Given the description of an element on the screen output the (x, y) to click on. 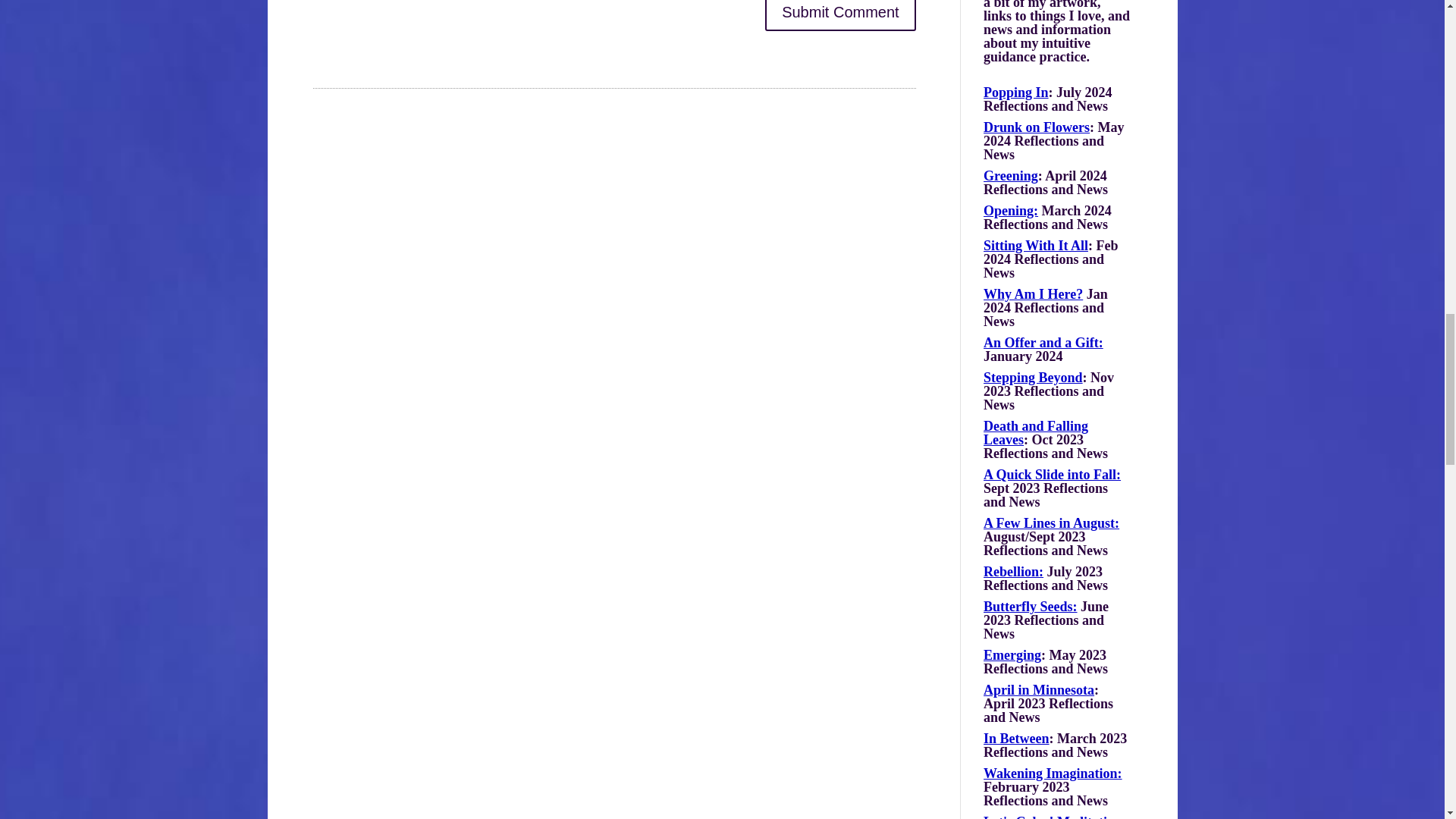
Submit Comment (840, 15)
